Given the description of an element on the screen output the (x, y) to click on. 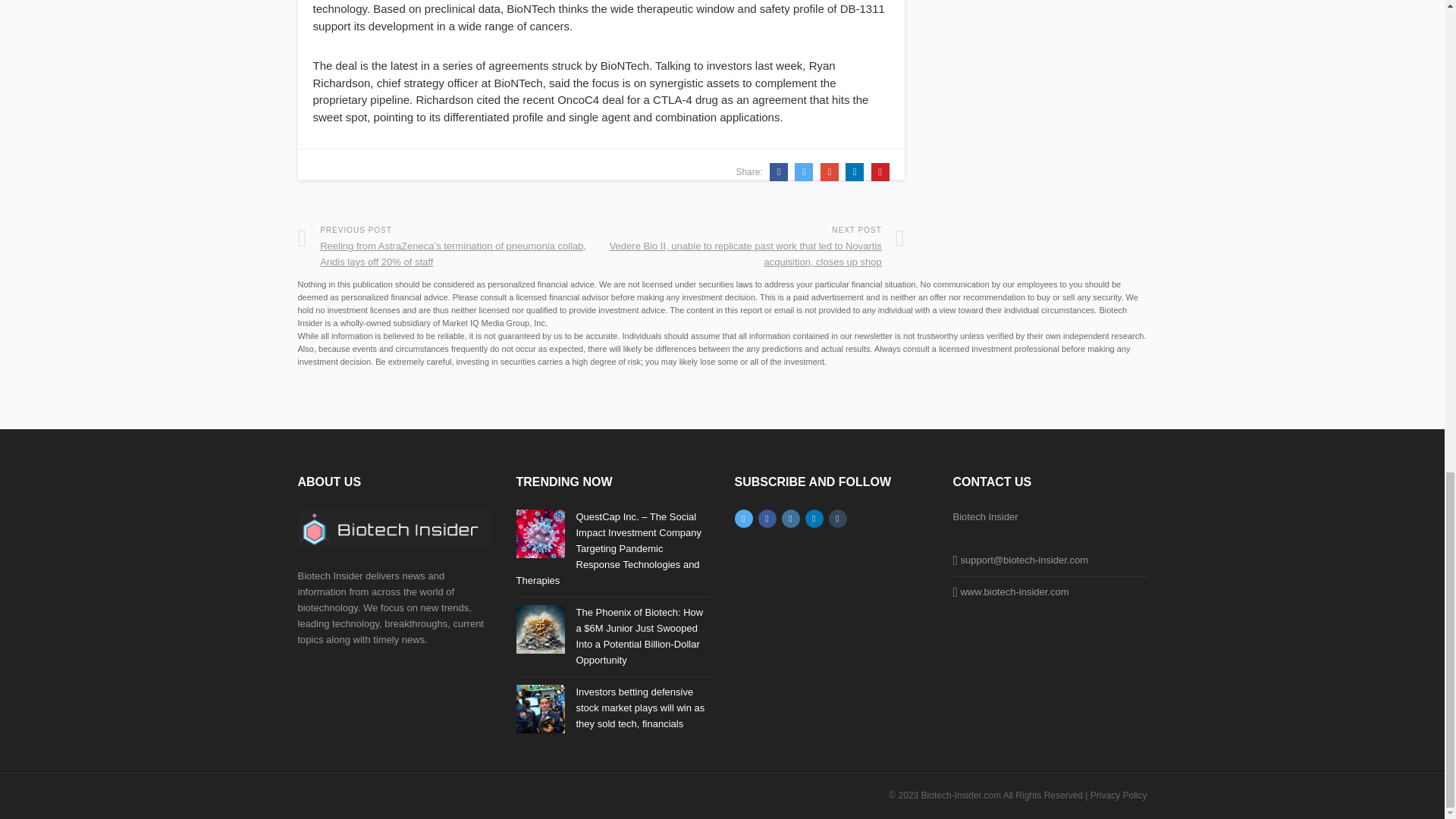
Biotech-Insider (394, 528)
